Given the description of an element on the screen output the (x, y) to click on. 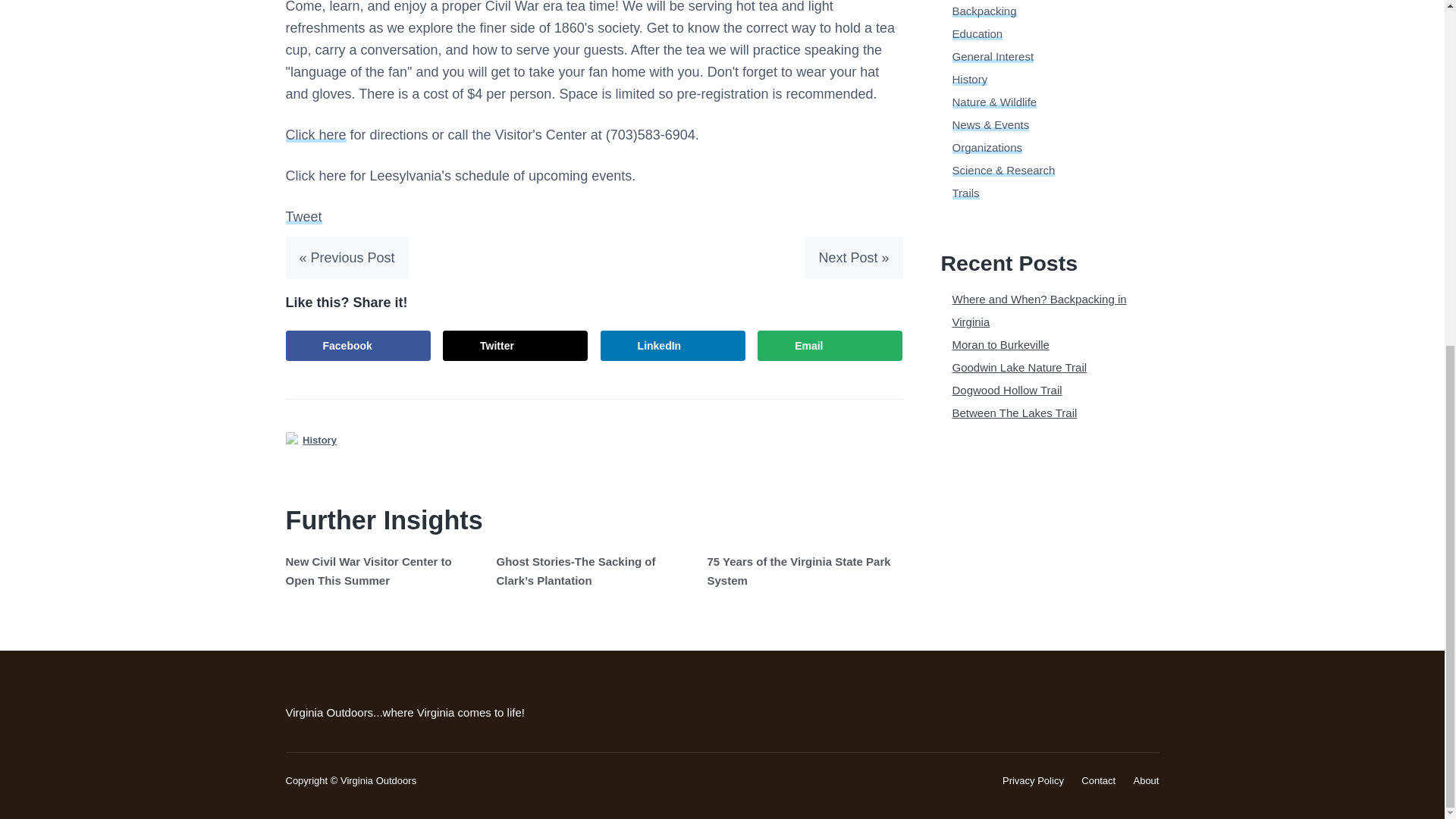
Share on X (515, 345)
New Civil War Visitor Center to Open This Summer (368, 570)
Share on LinkedIn (672, 345)
History (970, 78)
Send over email (829, 345)
History (319, 439)
LinkedIn (672, 345)
Facebook (357, 345)
Education (977, 33)
Twitter (515, 345)
